Given the description of an element on the screen output the (x, y) to click on. 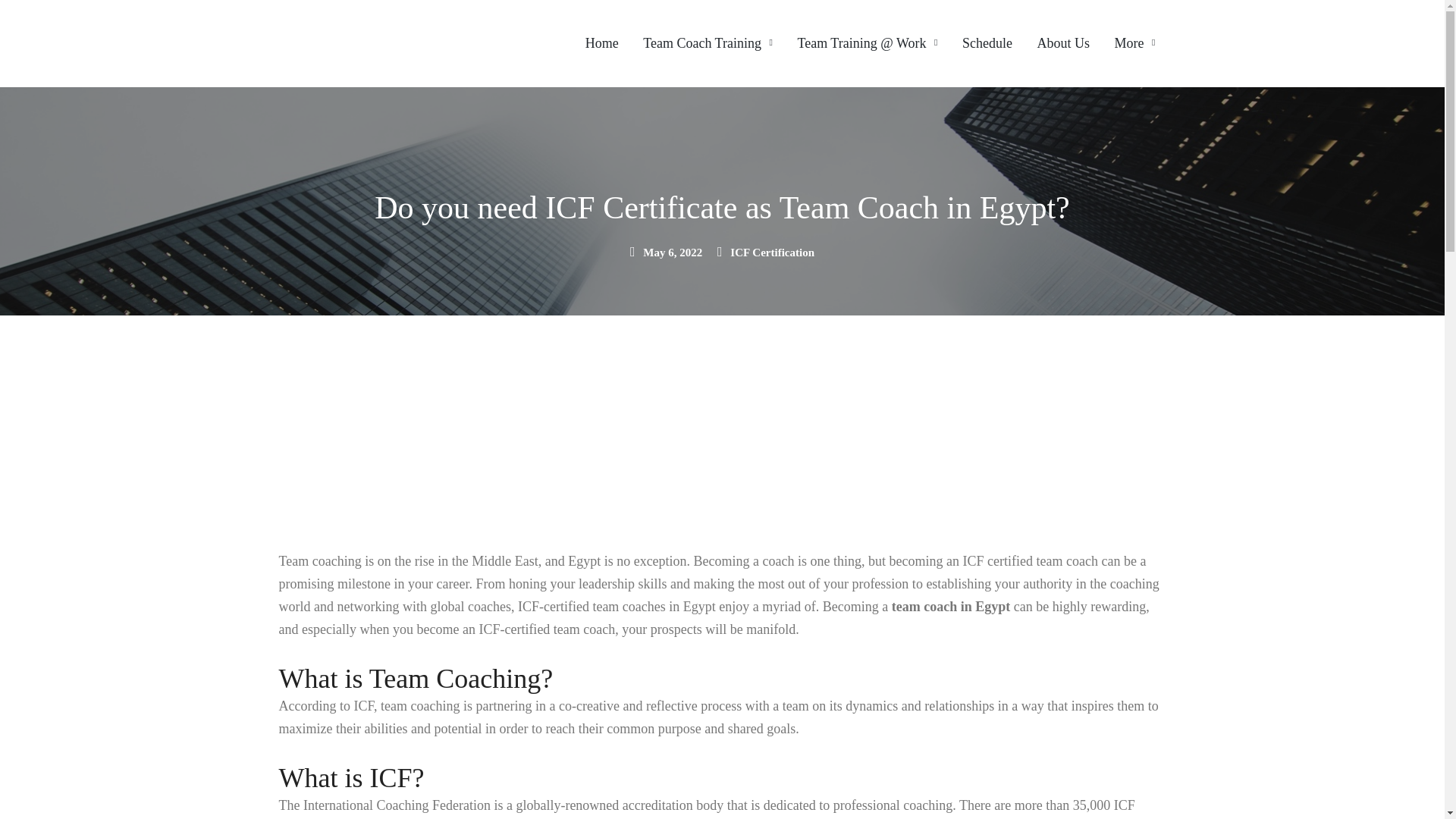
Team Coach Training (707, 43)
ICF Certification (771, 252)
